Given the description of an element on the screen output the (x, y) to click on. 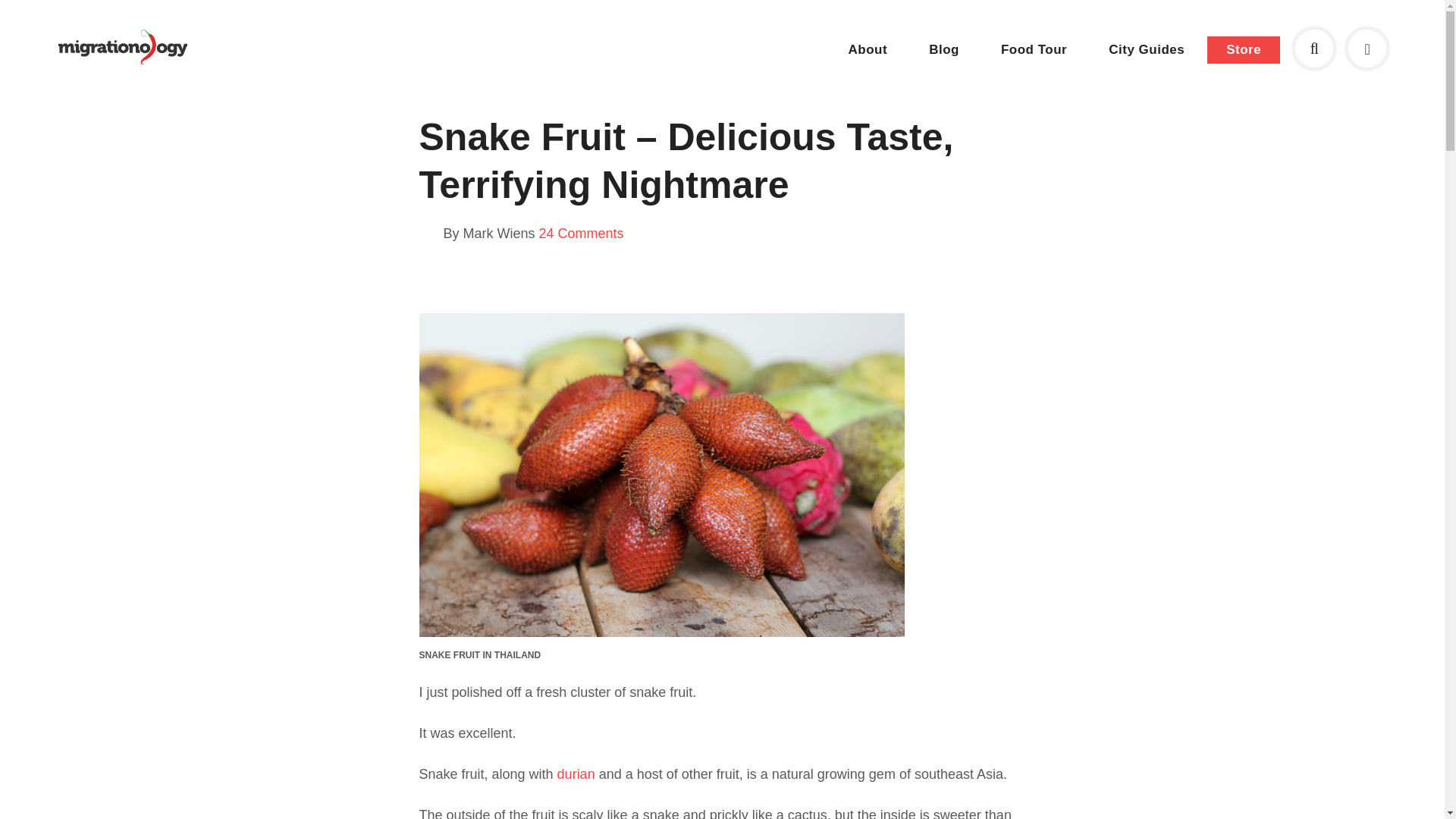
City Guides (1146, 49)
24 Comments (581, 233)
Store (1243, 49)
About (868, 49)
Blog (944, 49)
Durian (576, 774)
Food Tour (1033, 49)
durian (576, 774)
